Given the description of an element on the screen output the (x, y) to click on. 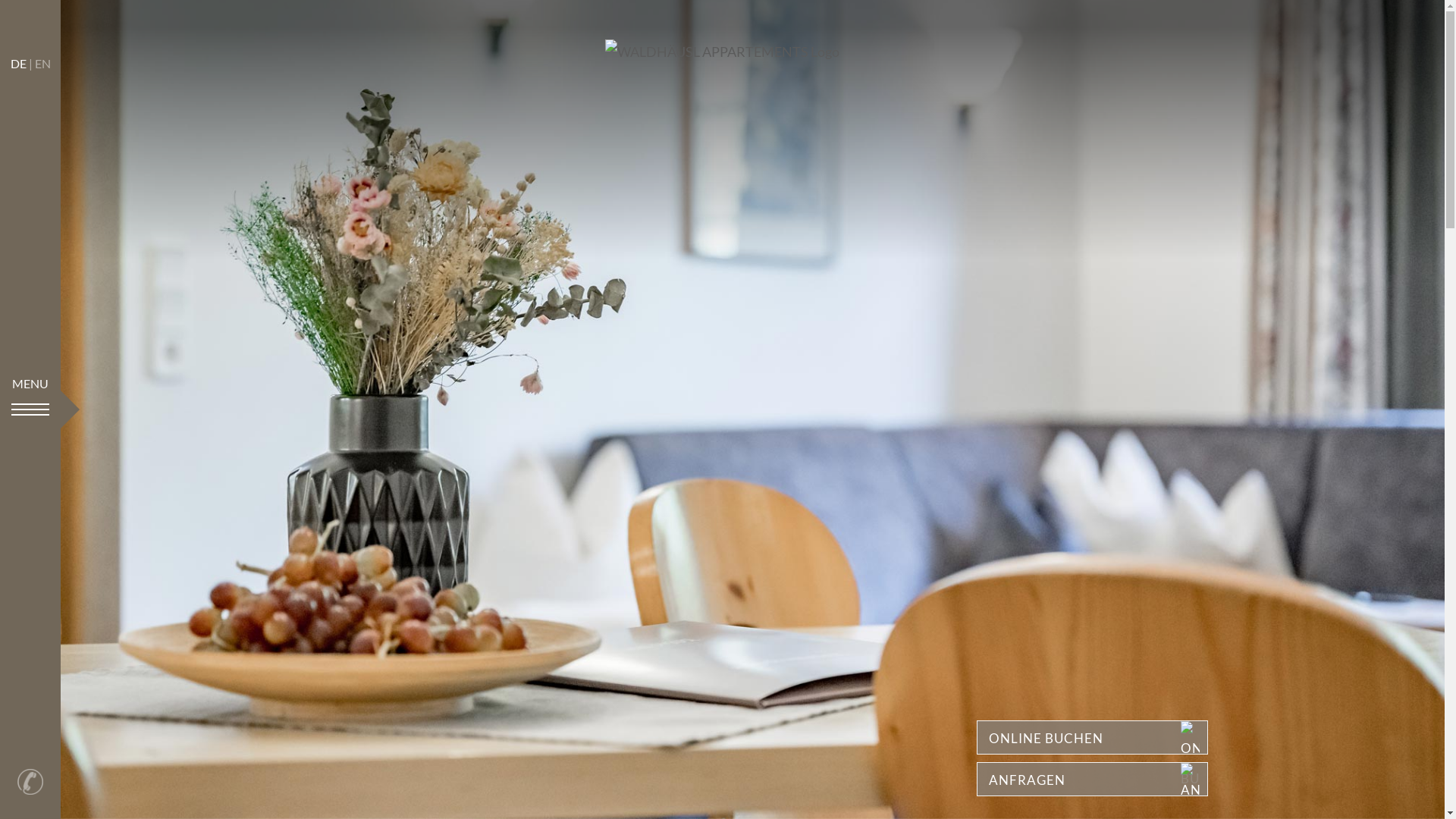
ANFRAGEN Element type: text (1092, 779)
DE Element type: text (18, 63)
EN Element type: text (42, 63)
MENU Element type: text (30, 409)
ONLINE BUCHEN Element type: text (1092, 737)
